Given the description of an element on the screen output the (x, y) to click on. 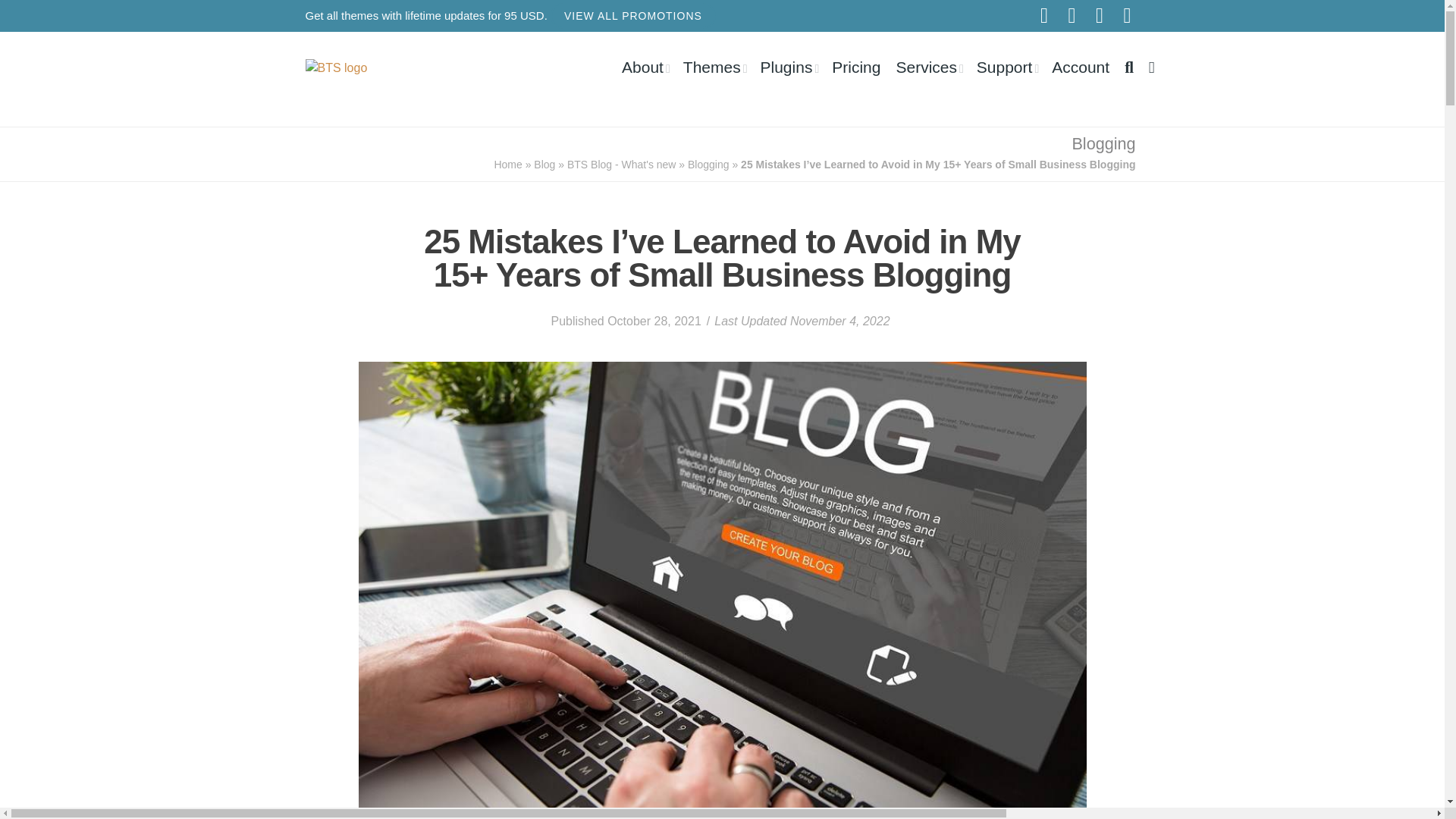
Twitter (1099, 15)
About (644, 67)
Facebook (1071, 15)
Plugins (788, 67)
Themes (713, 67)
Linkedin (1126, 15)
Our Free and Premium WordPress Themes (713, 67)
Services (927, 67)
WordPress (1044, 15)
VIEW ALL PROMOTIONS (633, 15)
